Given the description of an element on the screen output the (x, y) to click on. 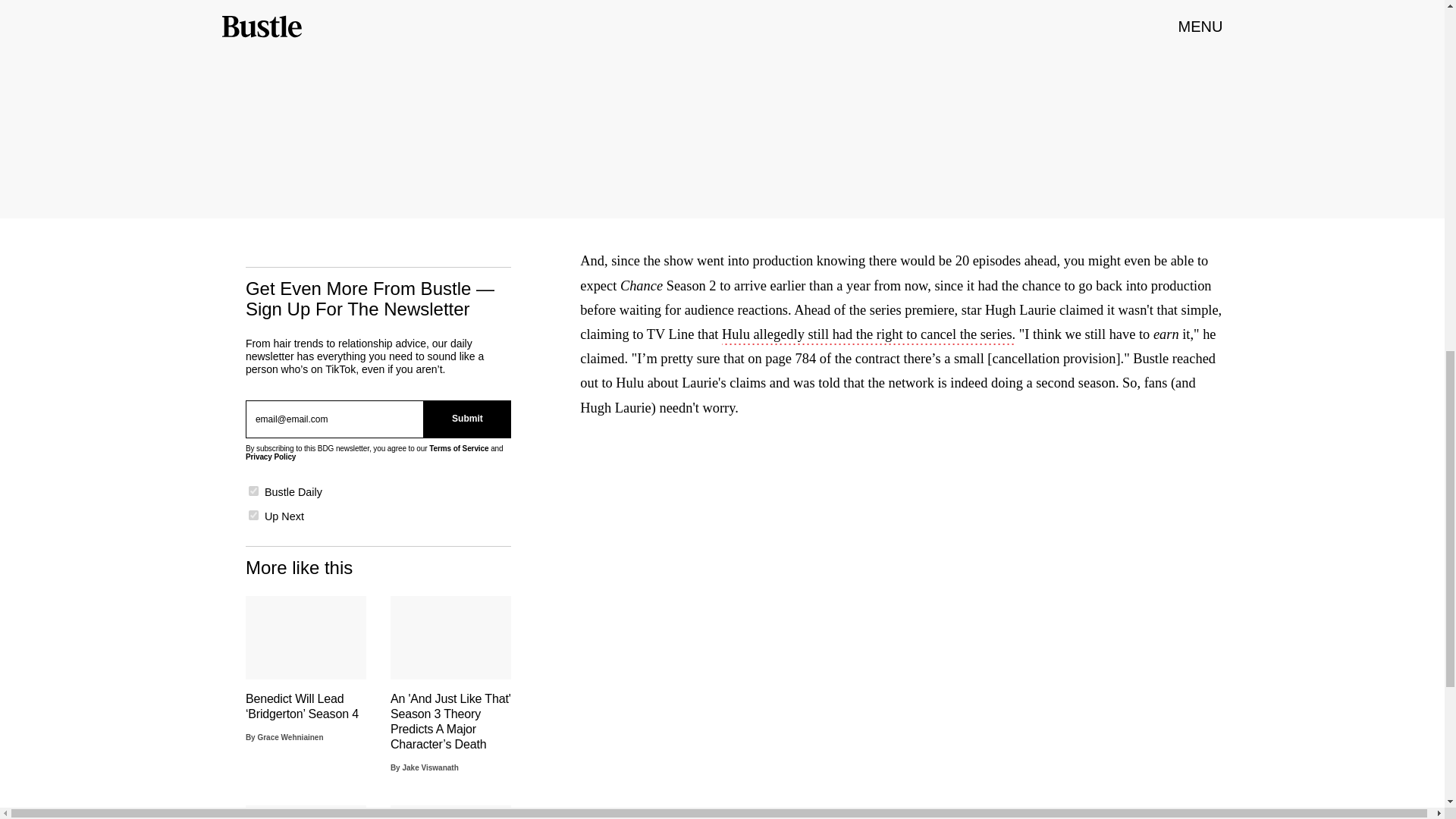
Terms of Service (458, 448)
Submit (467, 419)
Privacy Policy (270, 456)
Hulu allegedly still had the right to cancel the series. (868, 335)
